Given the description of an element on the screen output the (x, y) to click on. 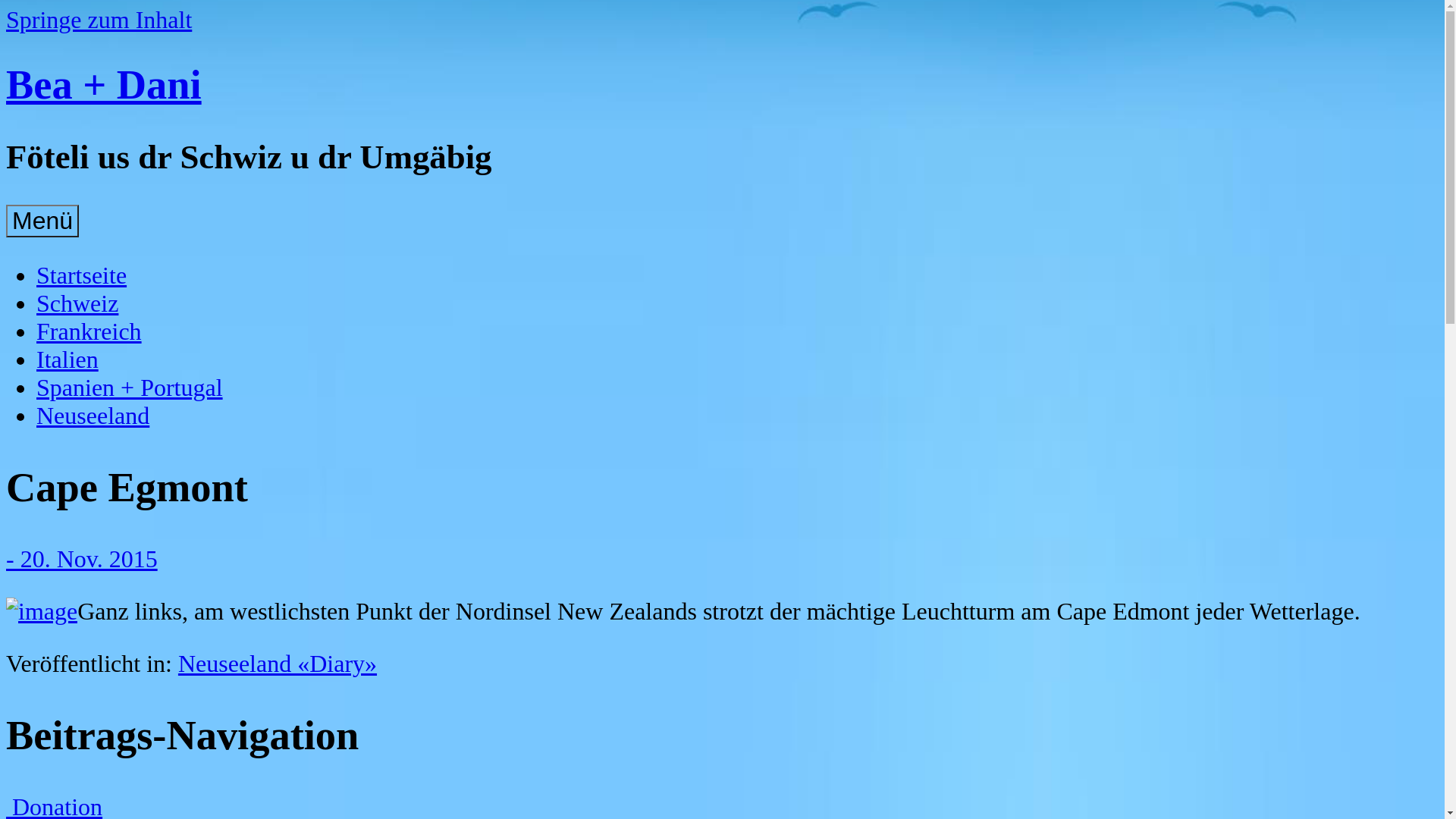
Schweiz Element type: text (77, 302)
Springe zum Inhalt Element type: text (98, 19)
Frankreich Element type: text (88, 331)
Bea + Dani Element type: text (103, 84)
- 20. Nov. 2015 Element type: text (81, 558)
Neuseeland Element type: text (92, 415)
Italien Element type: text (67, 359)
Startseite Element type: text (81, 274)
Spanien + Portugal Element type: text (129, 387)
